Given the description of an element on the screen output the (x, y) to click on. 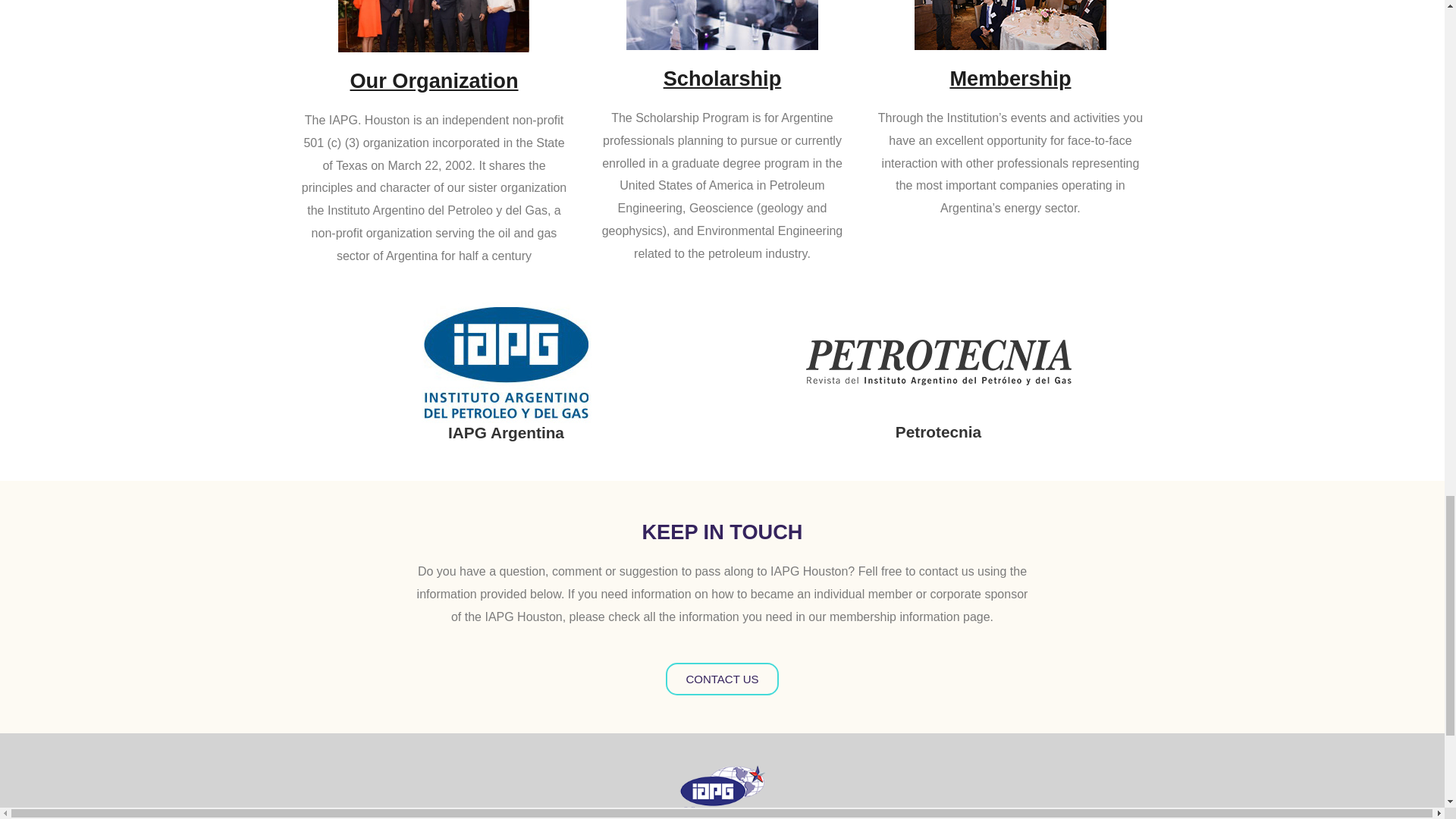
IAPG Argentina (506, 432)
Our Organization (433, 80)
Membership (1009, 78)
Petrotecnia (938, 431)
CONTACT US (721, 678)
Scholarship (722, 78)
